Given the description of an element on the screen output the (x, y) to click on. 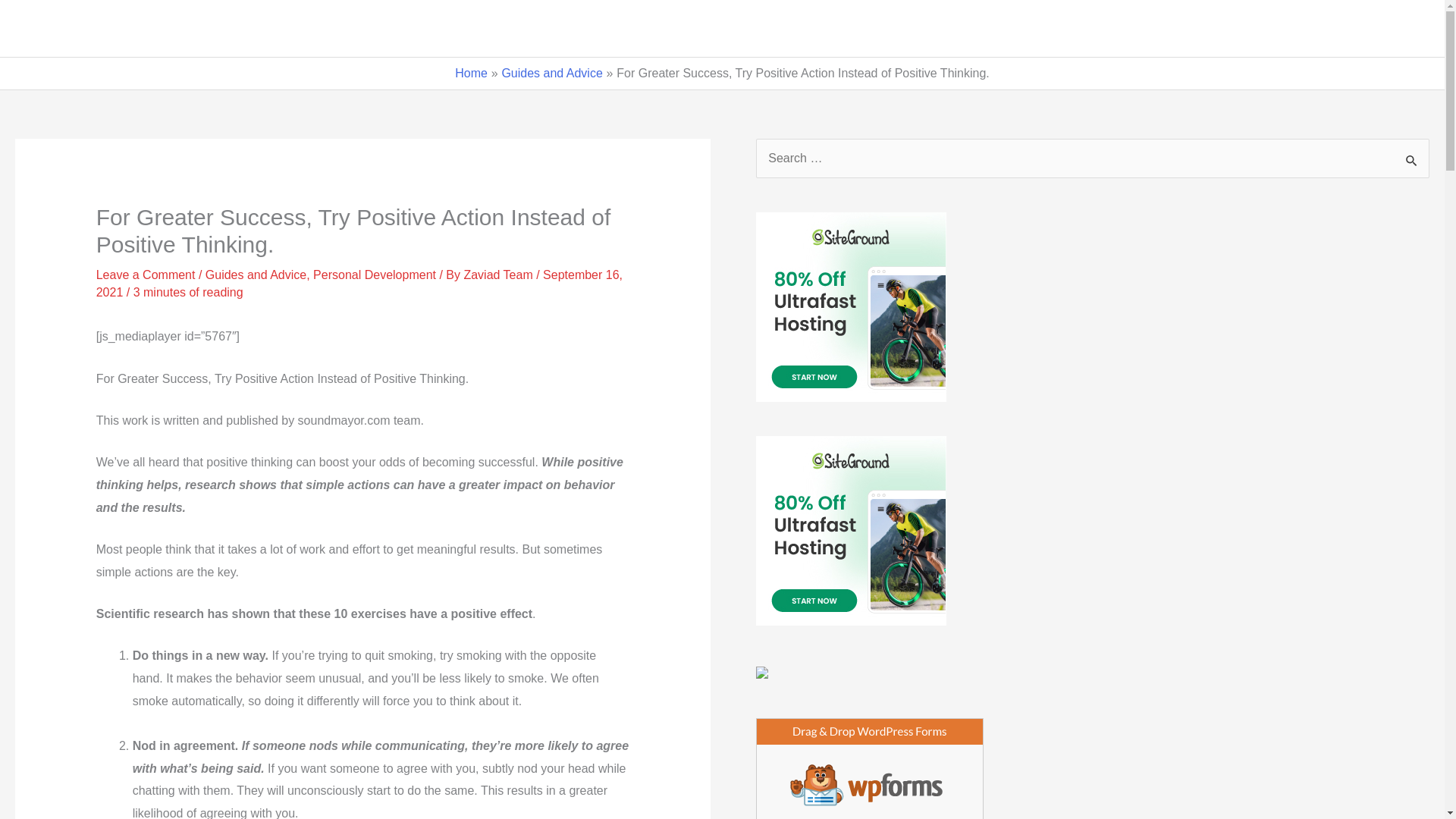
View all posts by Zaviad Team (499, 274)
Home (911, 28)
Explainer (1183, 28)
Proverbs (1266, 28)
Quotes (986, 28)
Zaviad (56, 28)
